Given the description of an element on the screen output the (x, y) to click on. 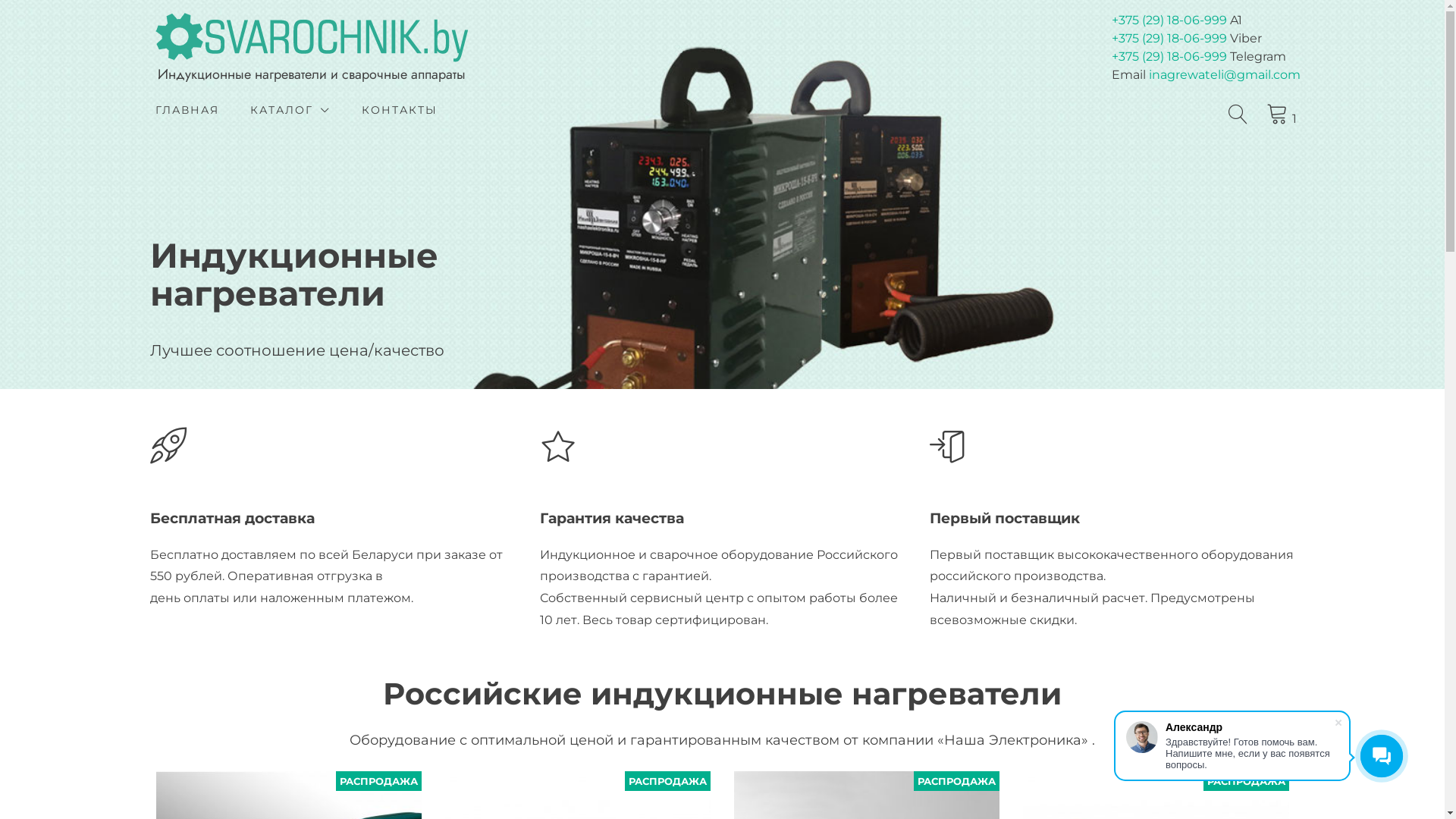
+375 (29) 18-06-999 Element type: text (1168, 19)
+375 (29) 18-06-999 Element type: text (1168, 38)
inagrewateli@gmail.com Element type: text (1224, 74)
+375 (29) 18-06-999 Element type: text (1168, 56)
1 Element type: text (1283, 115)
